Given the description of an element on the screen output the (x, y) to click on. 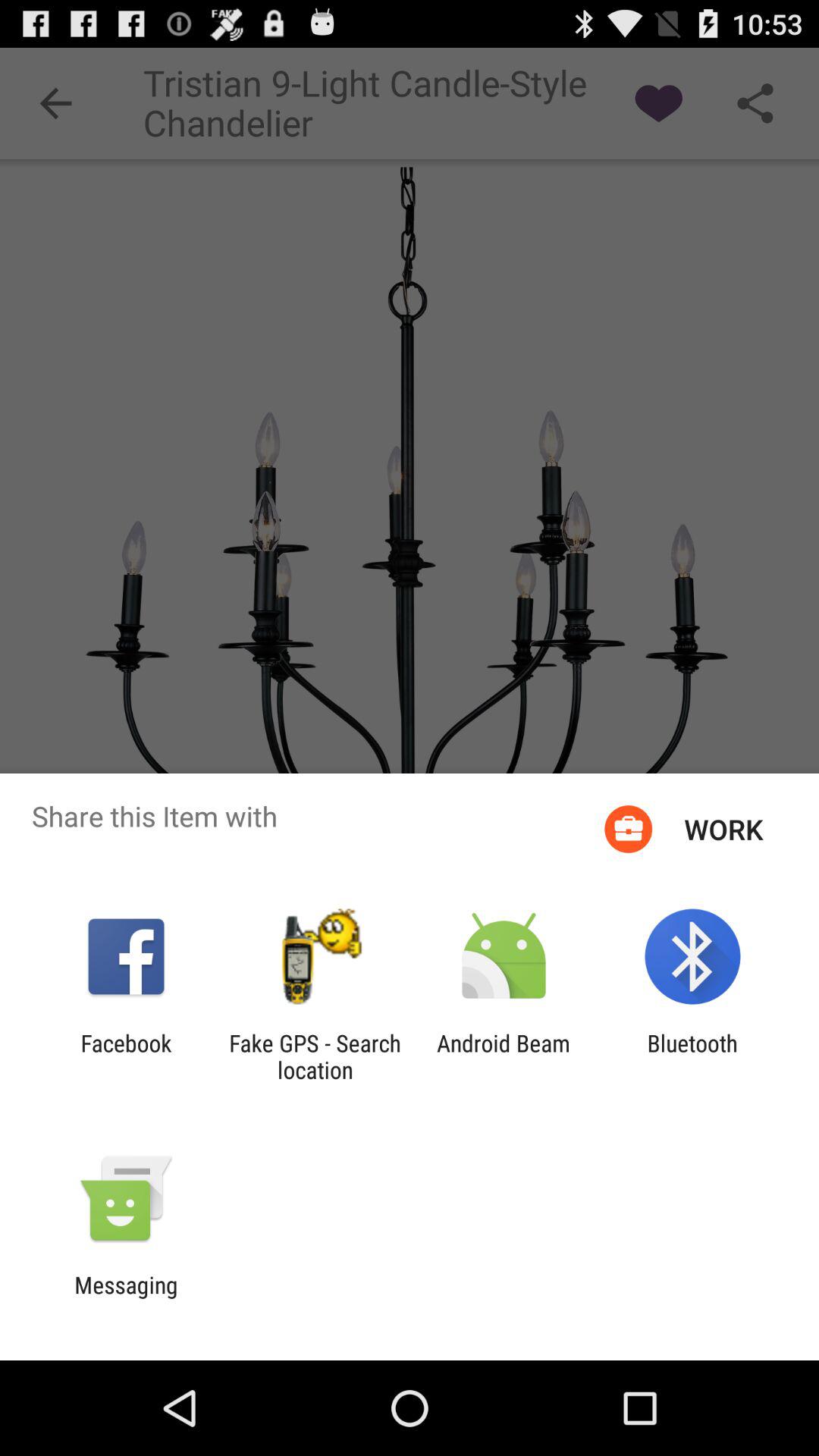
press icon next to facebook icon (314, 1056)
